Given the description of an element on the screen output the (x, y) to click on. 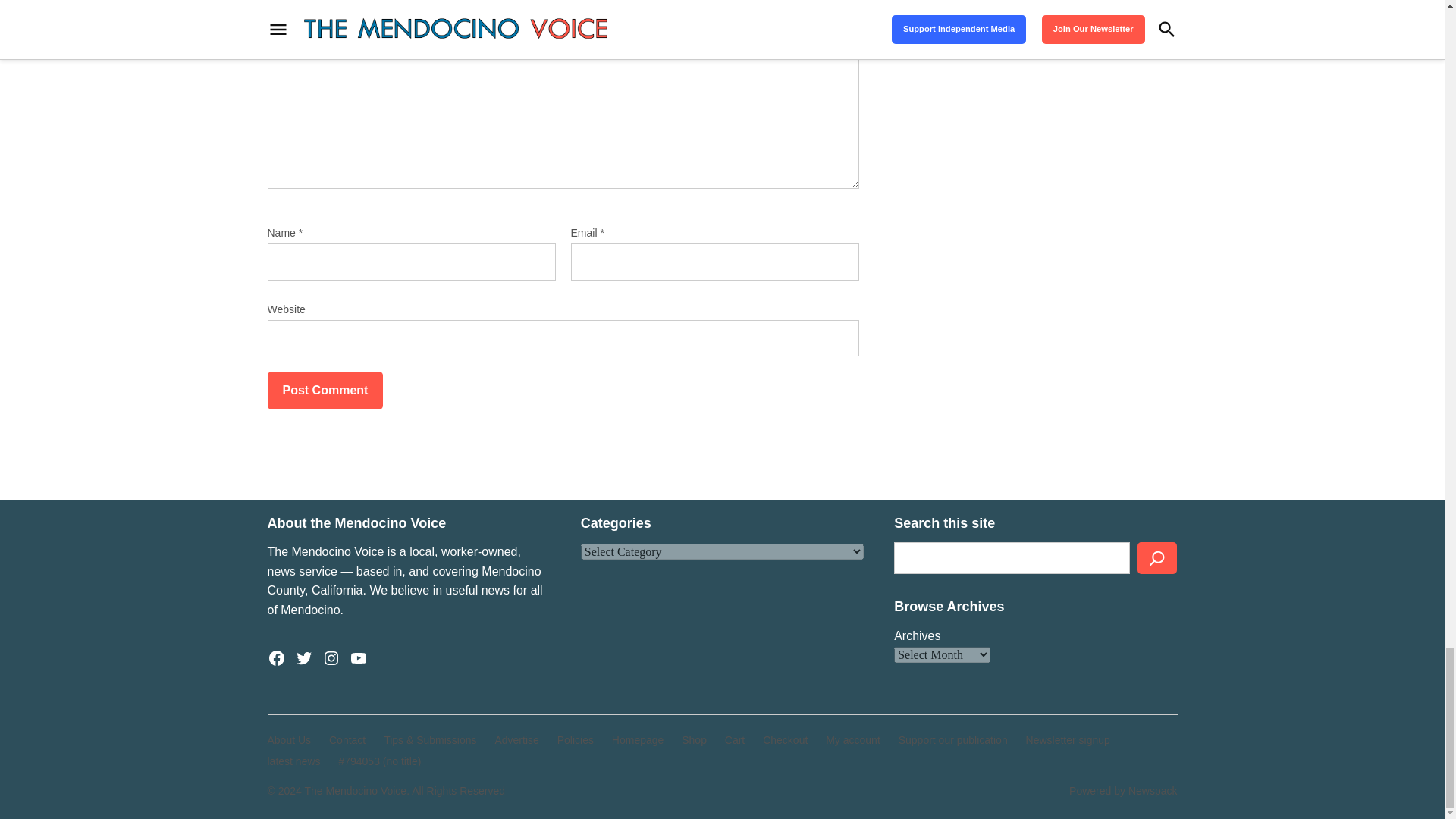
Post Comment (324, 390)
